Given the description of an element on the screen output the (x, y) to click on. 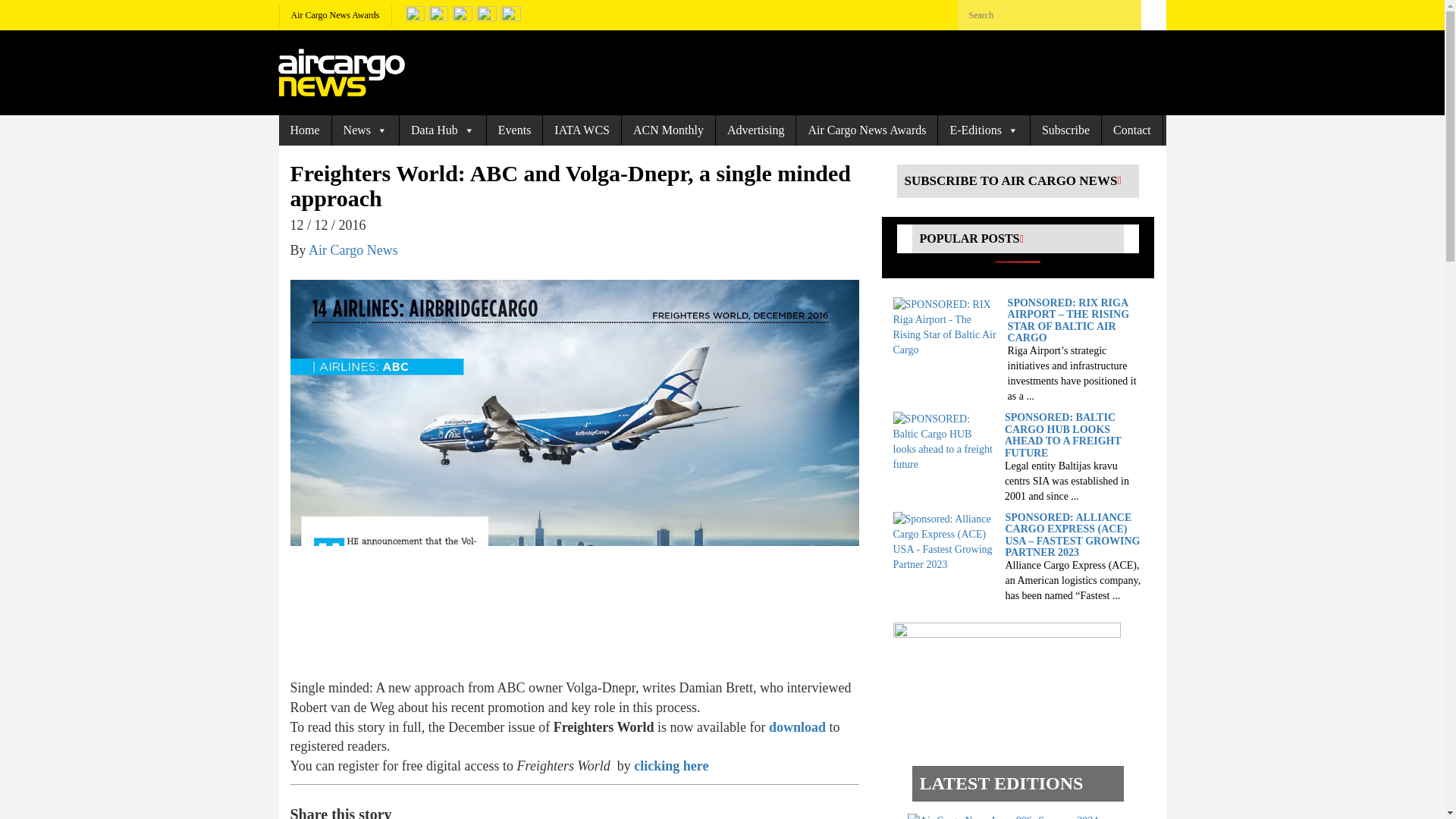
SPONSORED: Baltic Cargo HUB looks ahead to a freight future (945, 441)
News (364, 130)
Home (305, 130)
Opens external link in new window (798, 726)
Air Cargo News Awards (335, 14)
Opens external link in new window (670, 765)
